Given the description of an element on the screen output the (x, y) to click on. 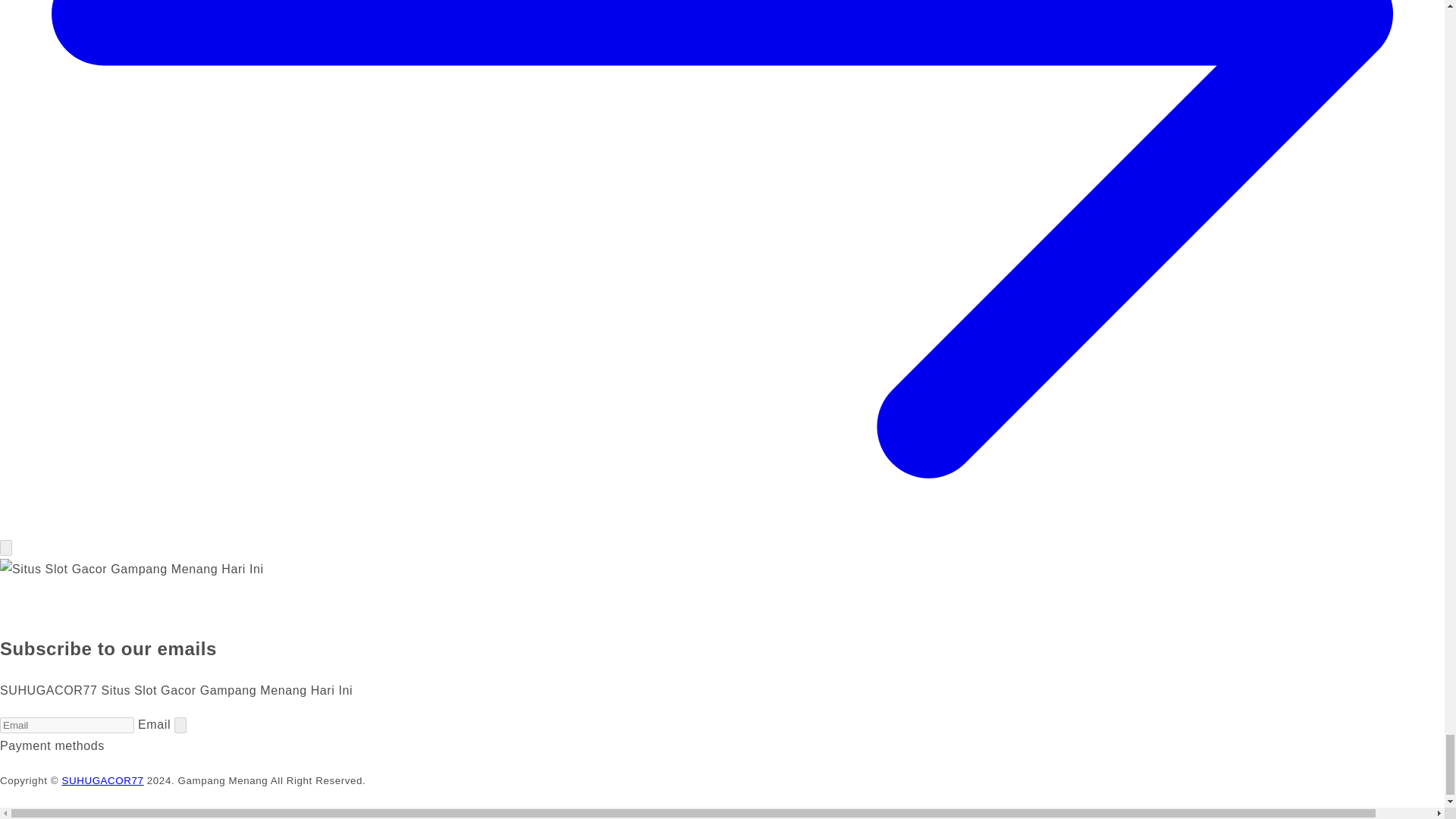
SUHUGACOR77 (101, 780)
